Given the description of an element on the screen output the (x, y) to click on. 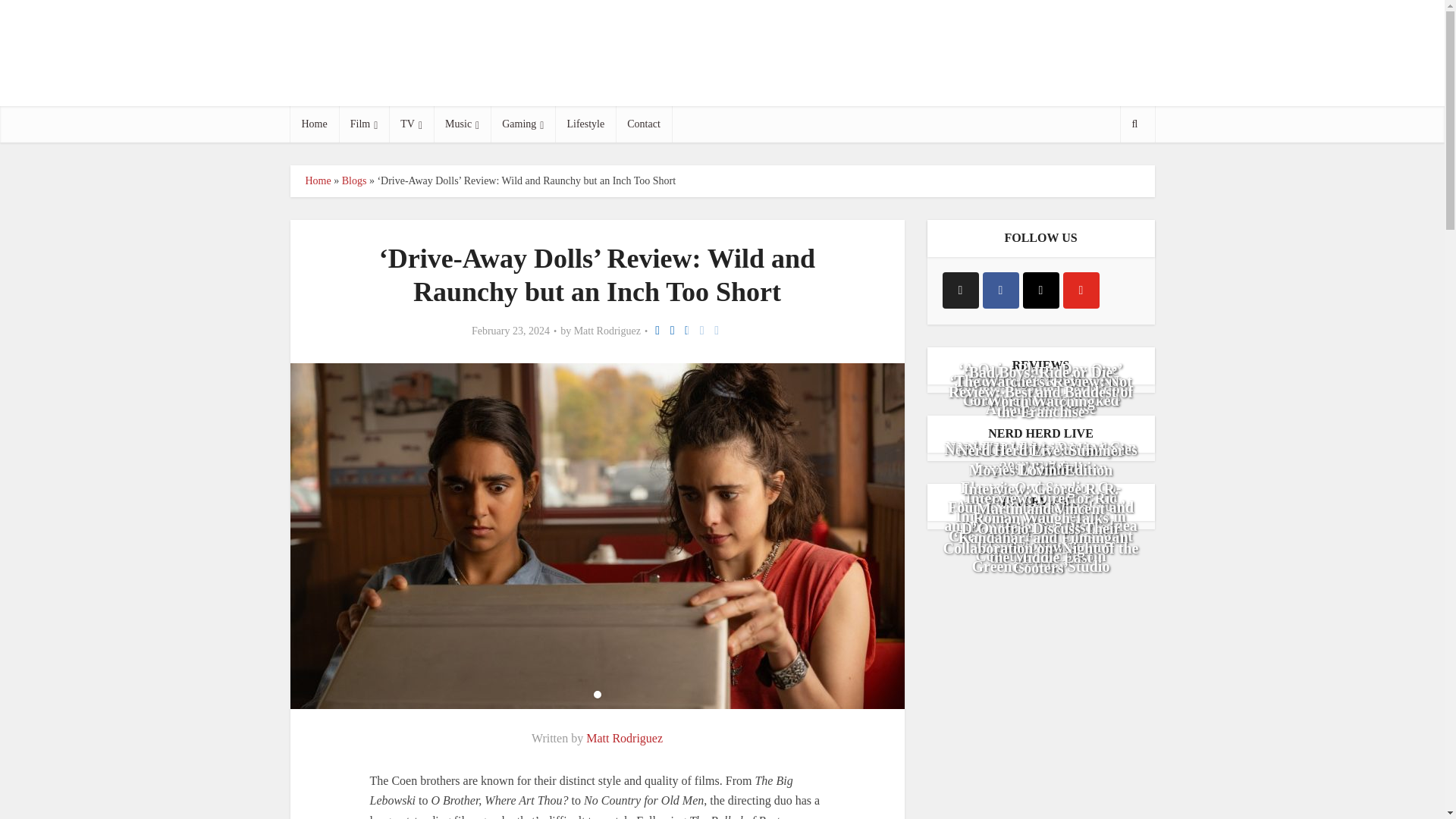
Music (461, 124)
TV (410, 124)
Home (313, 124)
Home (317, 179)
Film (364, 124)
Facebook (1000, 289)
Contact (643, 124)
Instagram (1040, 289)
Lifestyle (584, 124)
YouTube (1080, 289)
Gaming (522, 124)
Matt Rodriguez (606, 331)
Matt Rodriguez (624, 738)
Blogs (354, 179)
